Given the description of an element on the screen output the (x, y) to click on. 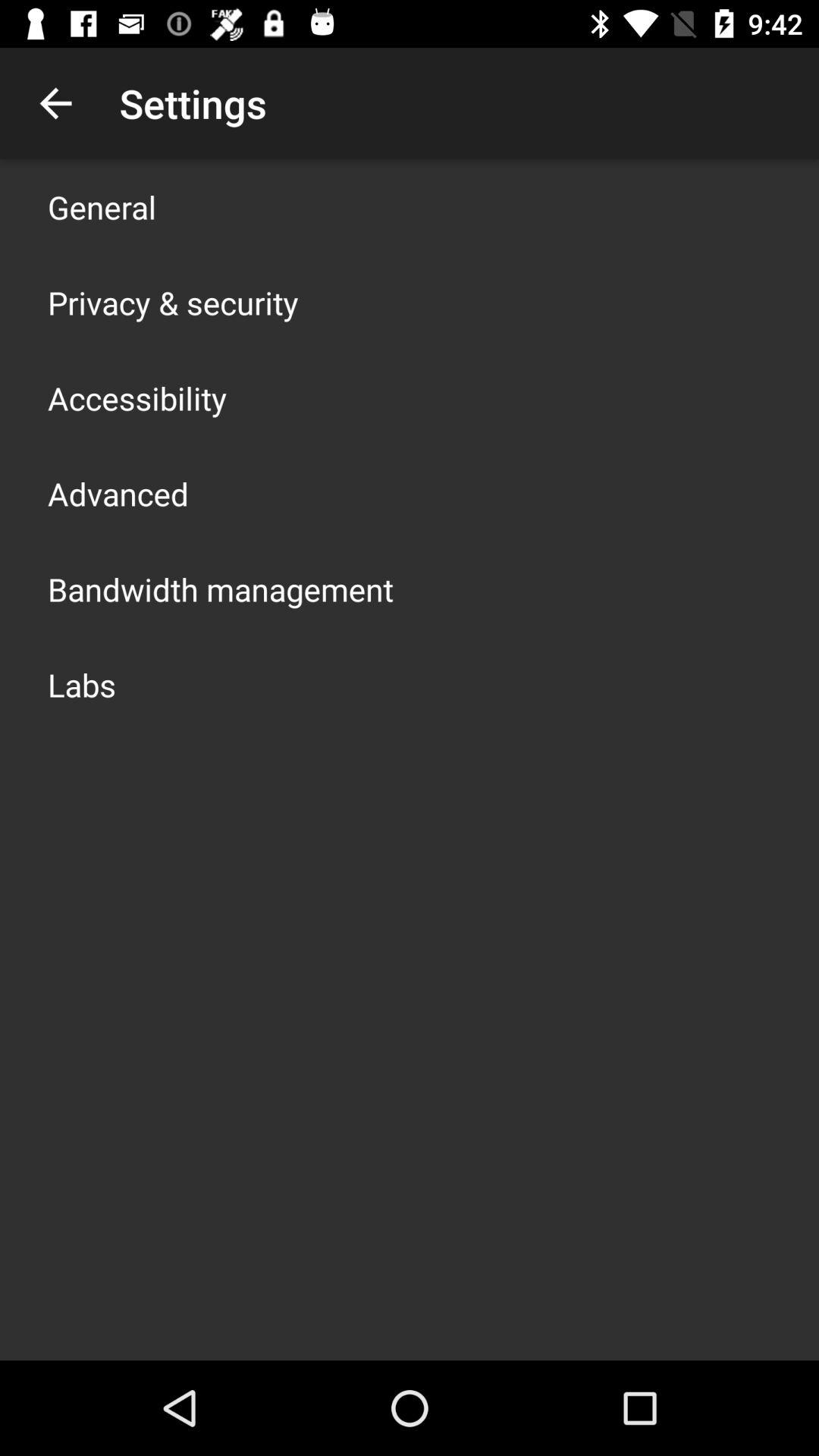
tap app below accessibility app (117, 493)
